Given the description of an element on the screen output the (x, y) to click on. 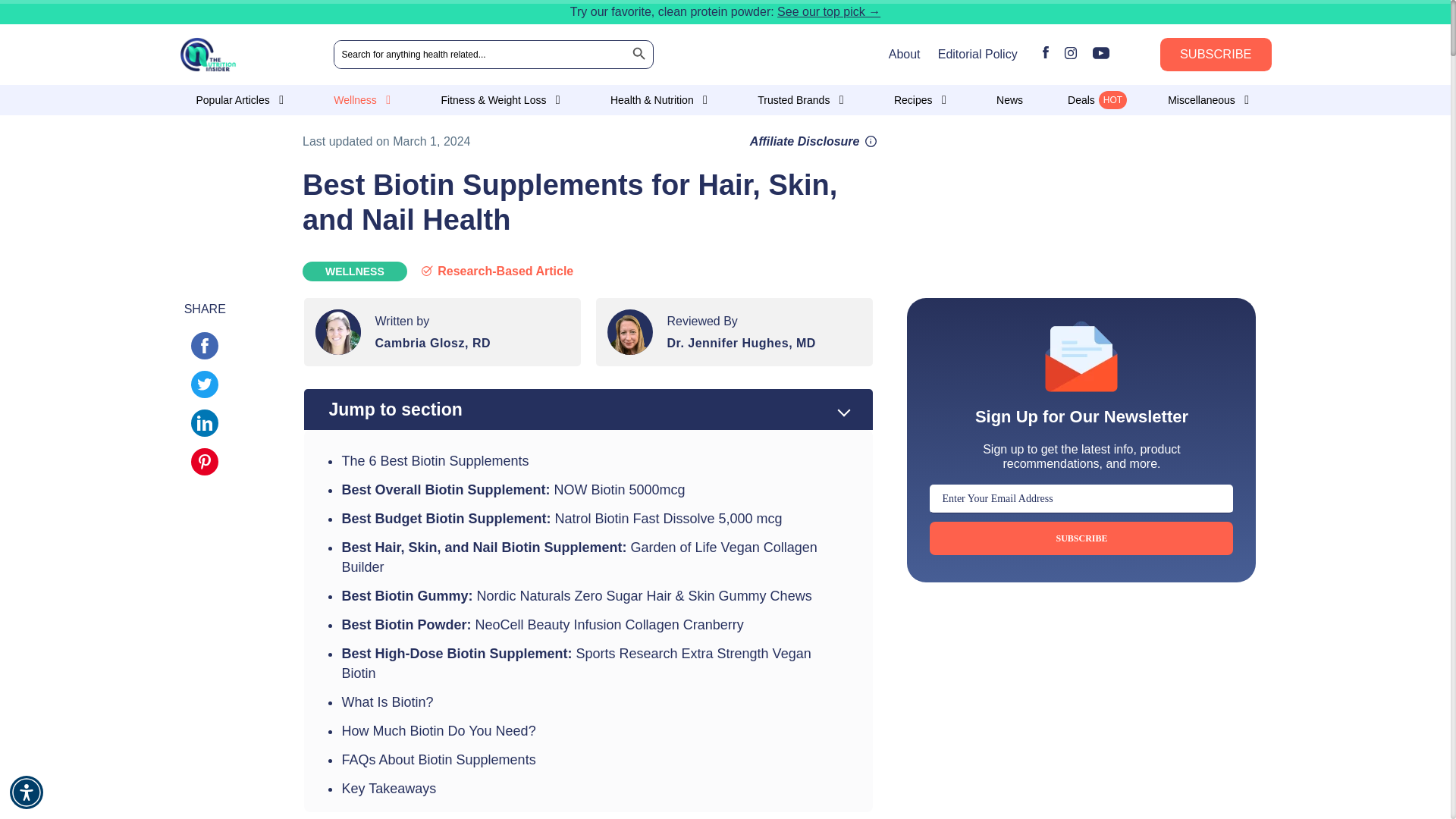
About (904, 53)
Editorial Policy (977, 53)
SUBSCRIBE (1215, 54)
Accessibility Menu (26, 792)
Subscribe (1081, 538)
Popular Articles (241, 99)
Search Button (639, 53)
Wellness (364, 99)
